Given the description of an element on the screen output the (x, y) to click on. 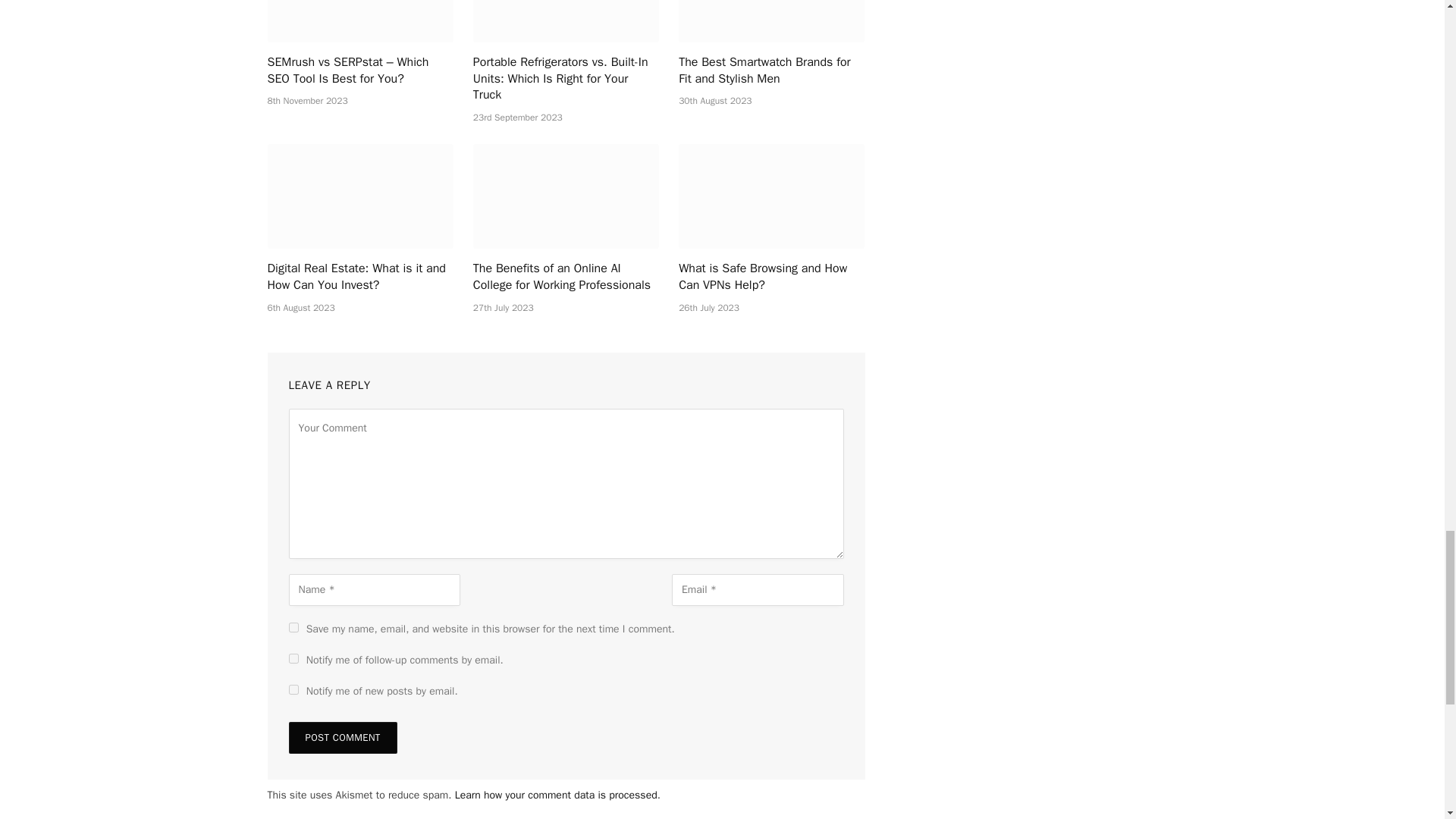
Post Comment (342, 737)
yes (293, 627)
subscribe (293, 689)
subscribe (293, 658)
